Given the description of an element on the screen output the (x, y) to click on. 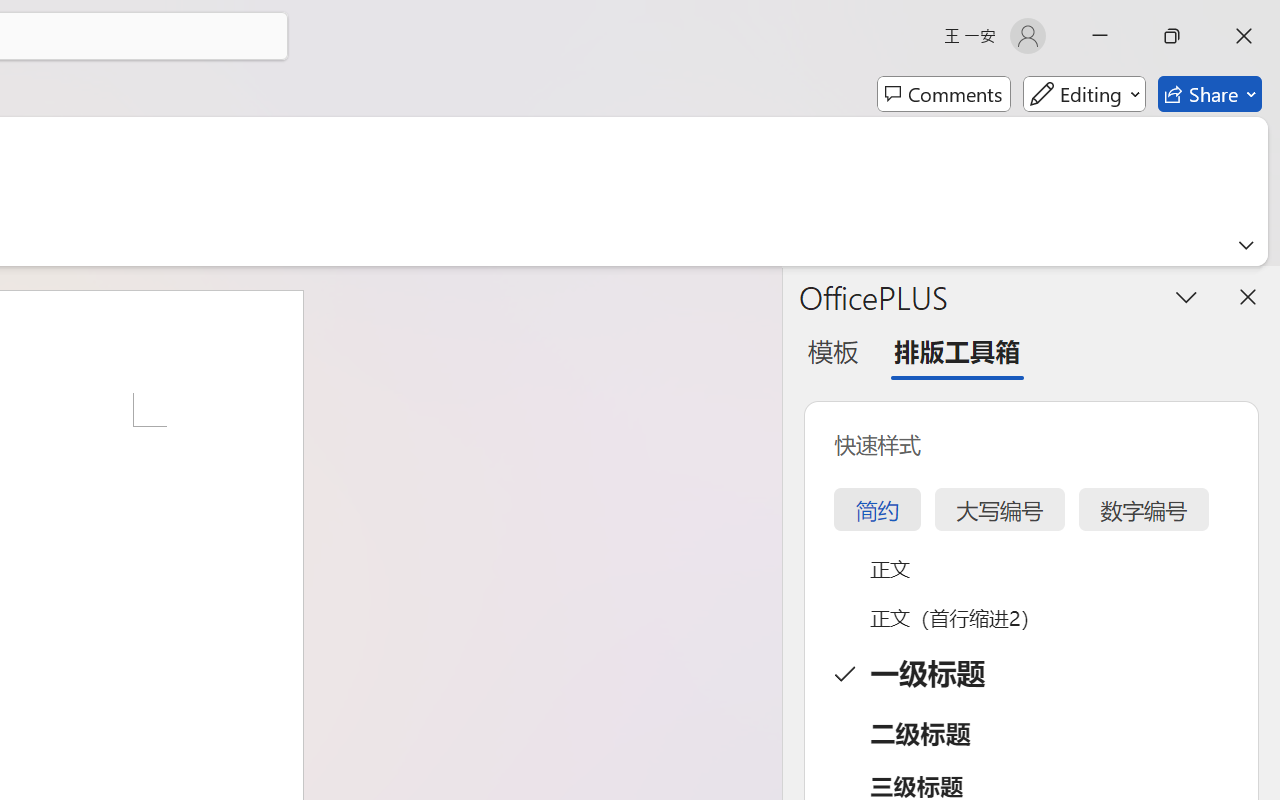
Task Pane Options (1186, 296)
